Given the description of an element on the screen output the (x, y) to click on. 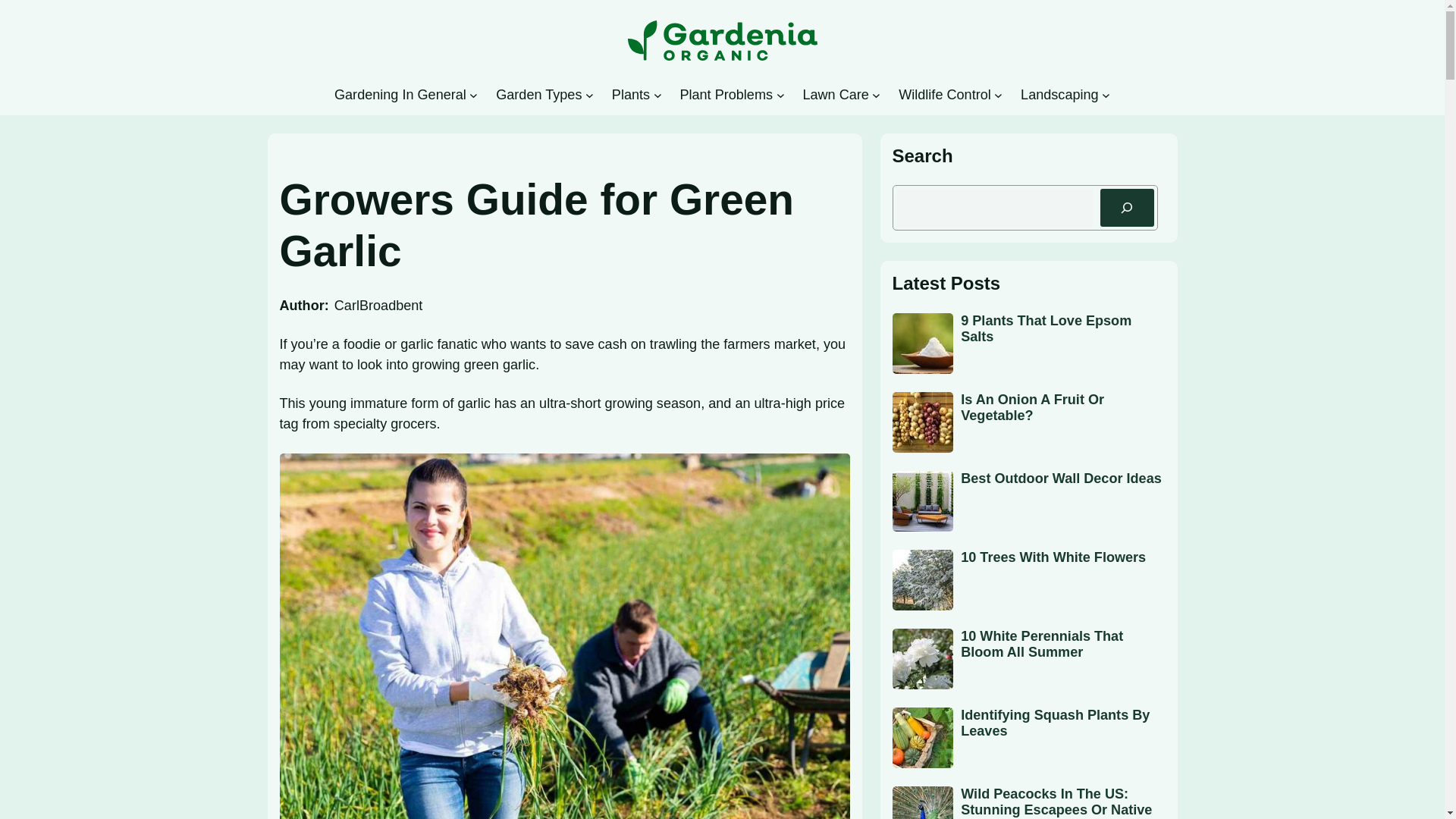
Plants (630, 94)
Garden Types (538, 94)
Plant Problems (726, 94)
Gardening In General (399, 94)
Lawn Care (834, 94)
